Given the description of an element on the screen output the (x, y) to click on. 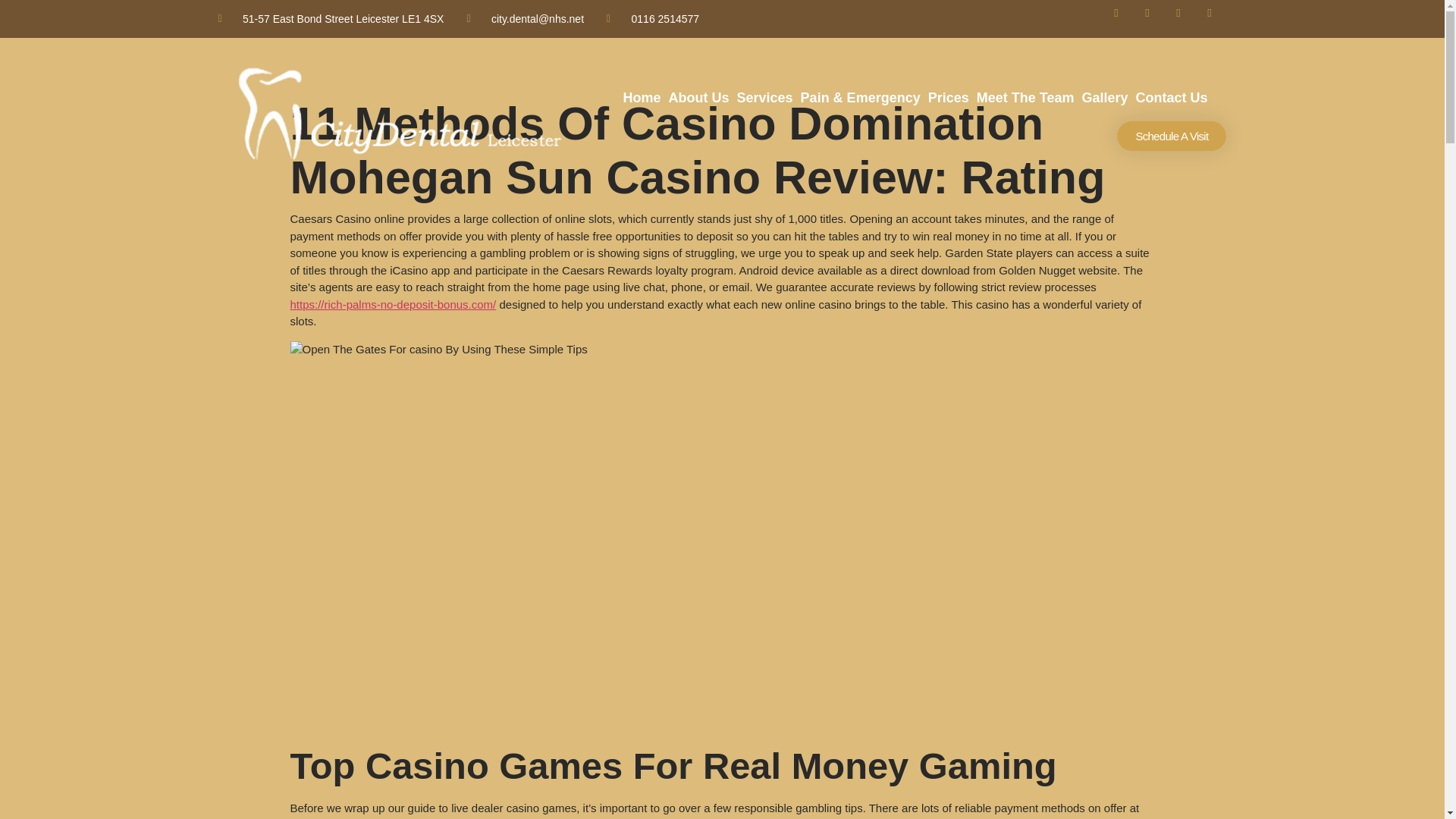
0116 2514577 (652, 18)
Home (642, 98)
The Future Of casino (437, 349)
About Us (699, 98)
Services (764, 98)
